Given the description of an element on the screen output the (x, y) to click on. 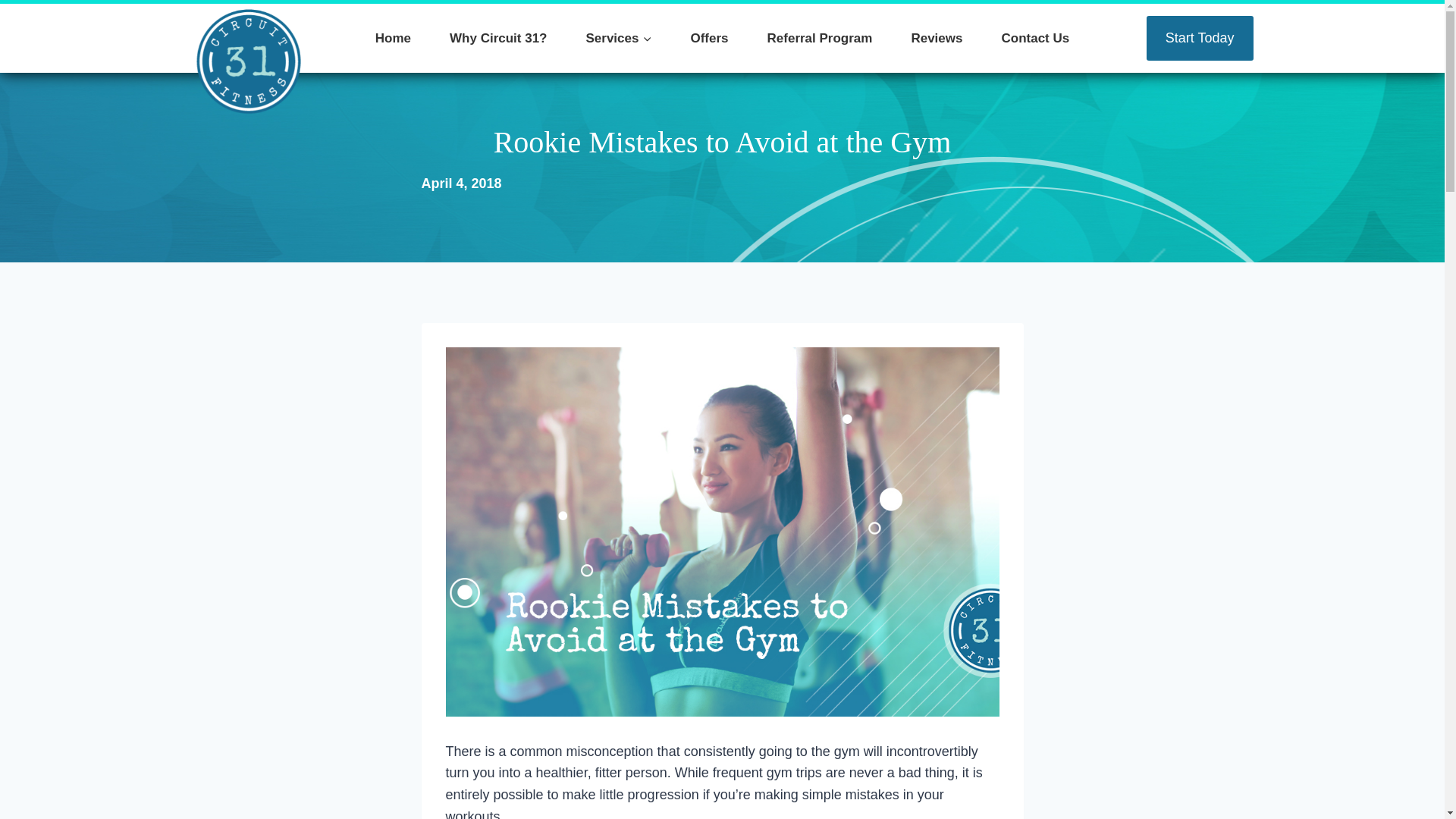
Start Today (1200, 37)
Services (618, 38)
Referral Program (819, 38)
Home (392, 38)
Contact Us (1035, 38)
Reviews (936, 38)
Why Circuit 31? (498, 38)
Offers (709, 38)
